Given the description of an element on the screen output the (x, y) to click on. 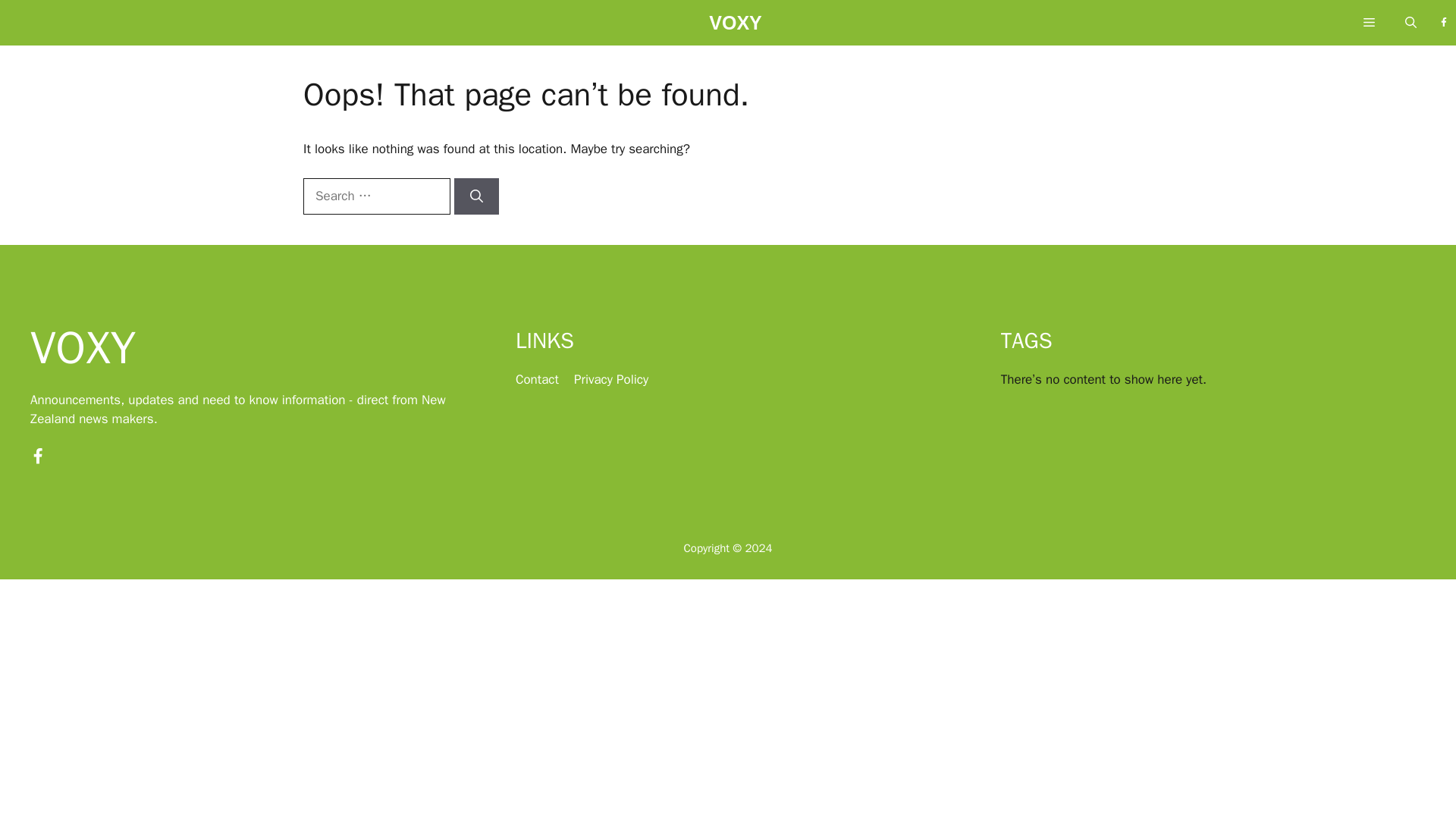
VOXY (735, 26)
Contact (537, 379)
Privacy Policy (610, 379)
Search for: (375, 196)
